Given the description of an element on the screen output the (x, y) to click on. 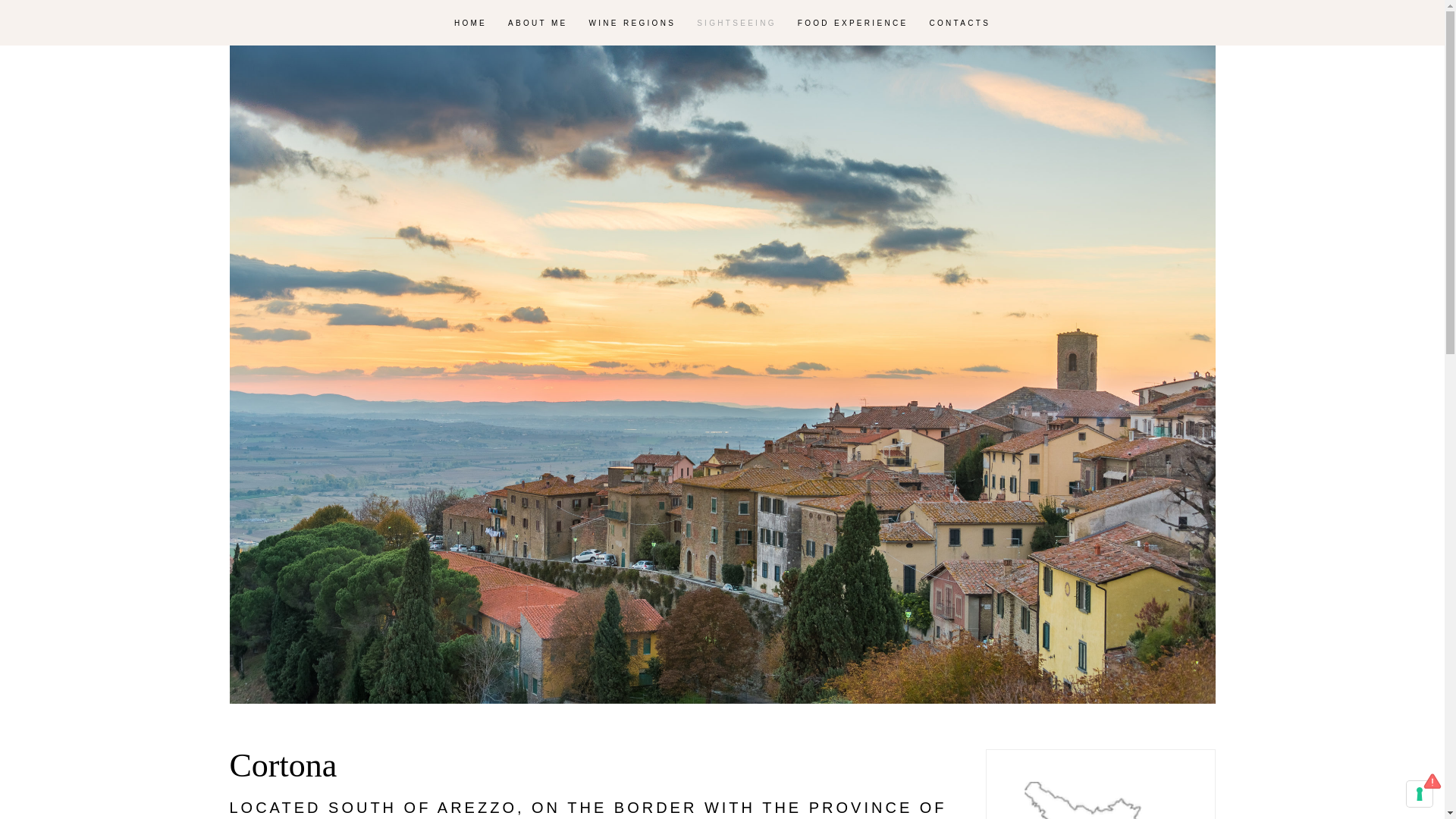
FOOD EXPERIENCE (852, 22)
HOME (470, 22)
ABOUT ME (537, 22)
WINE REGIONS (632, 22)
CONTACTS (959, 22)
SIGHTSEEING (736, 22)
